Given the description of an element on the screen output the (x, y) to click on. 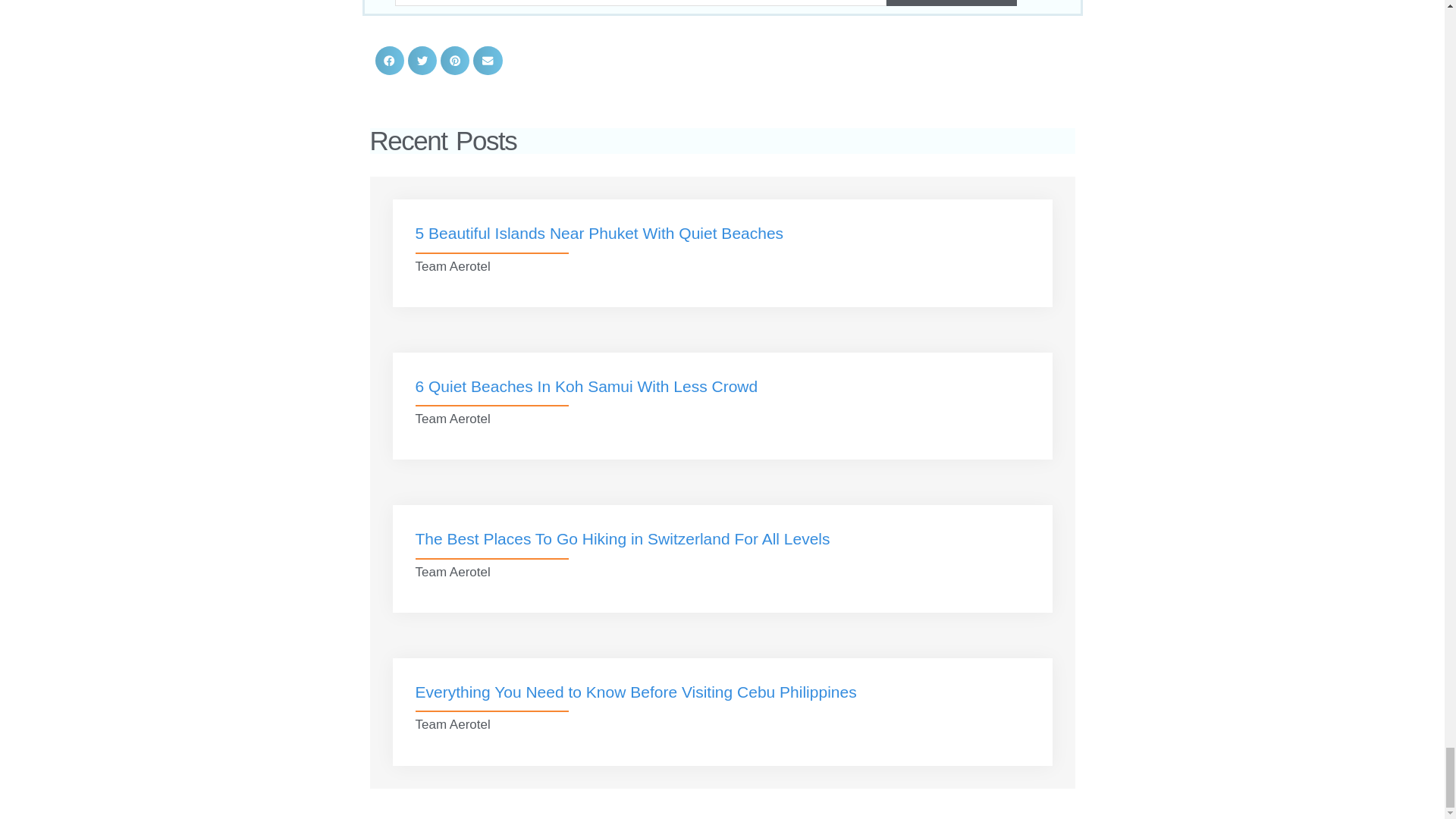
SEND (950, 2)
Everything You Need to Know Before Visiting Cebu Philippines (635, 692)
6 Quiet Beaches In Koh Samui With Less Crowd (586, 385)
The Best Places To Go Hiking in Switzerland For All Levels (621, 538)
5 Beautiful Islands Near Phuket With Quiet Beaches (599, 232)
